Given the description of an element on the screen output the (x, y) to click on. 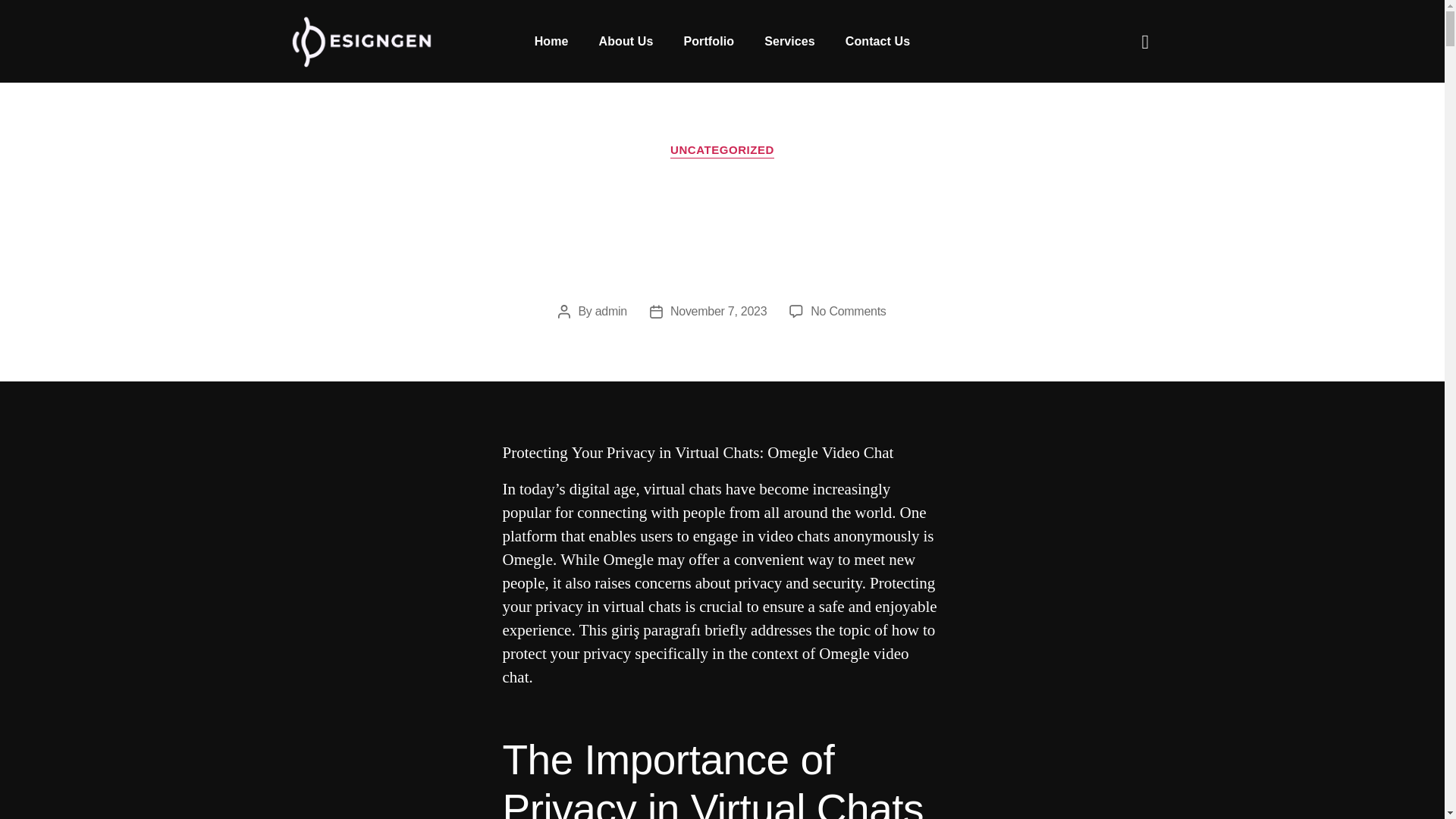
About Us (625, 41)
Services (789, 41)
Home (551, 41)
Contact Us (876, 41)
Portfolio (708, 41)
